Given the description of an element on the screen output the (x, y) to click on. 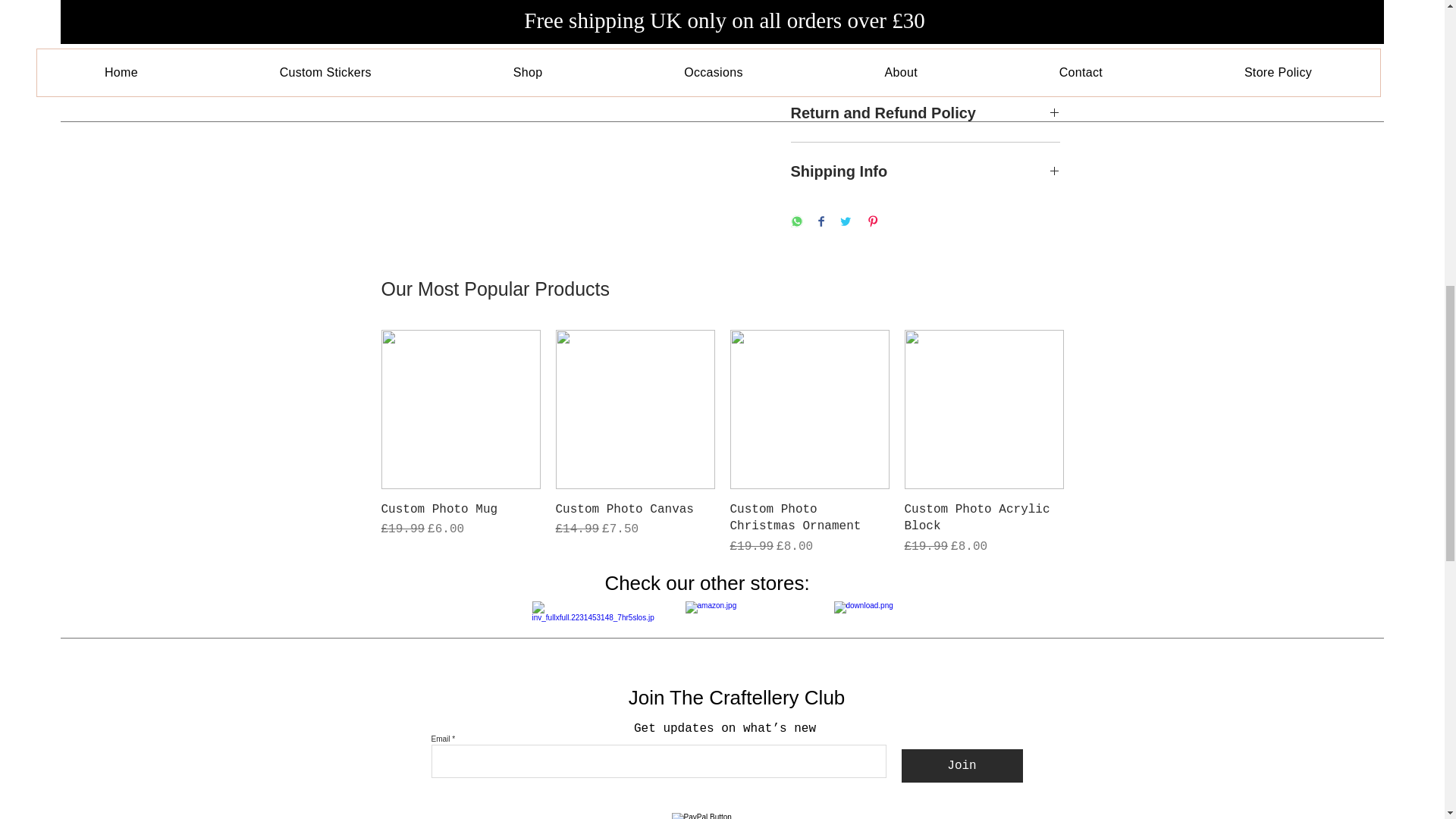
Shipping Info (924, 170)
Return and Refund Policy (924, 112)
